Given the description of an element on the screen output the (x, y) to click on. 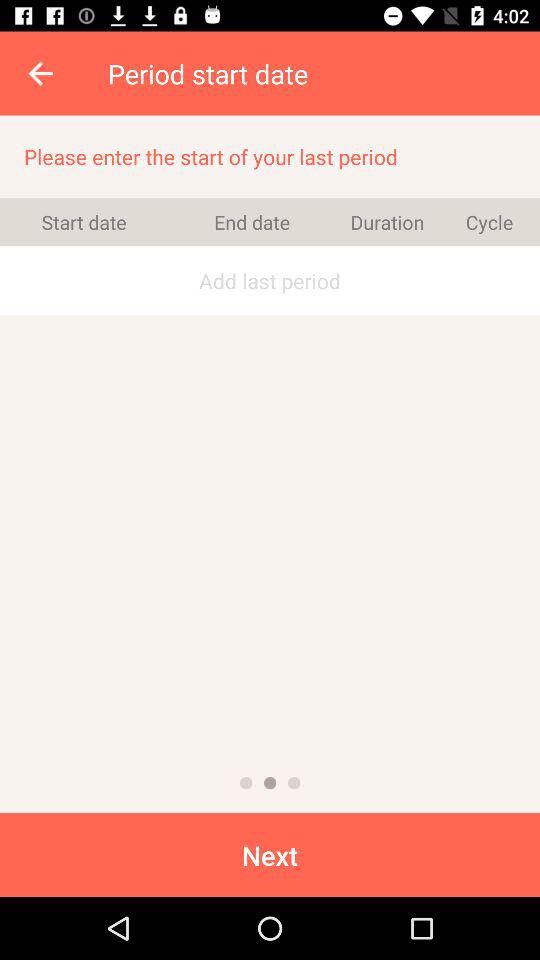
turn off the item below the add last period icon (270, 782)
